Given the description of an element on the screen output the (x, y) to click on. 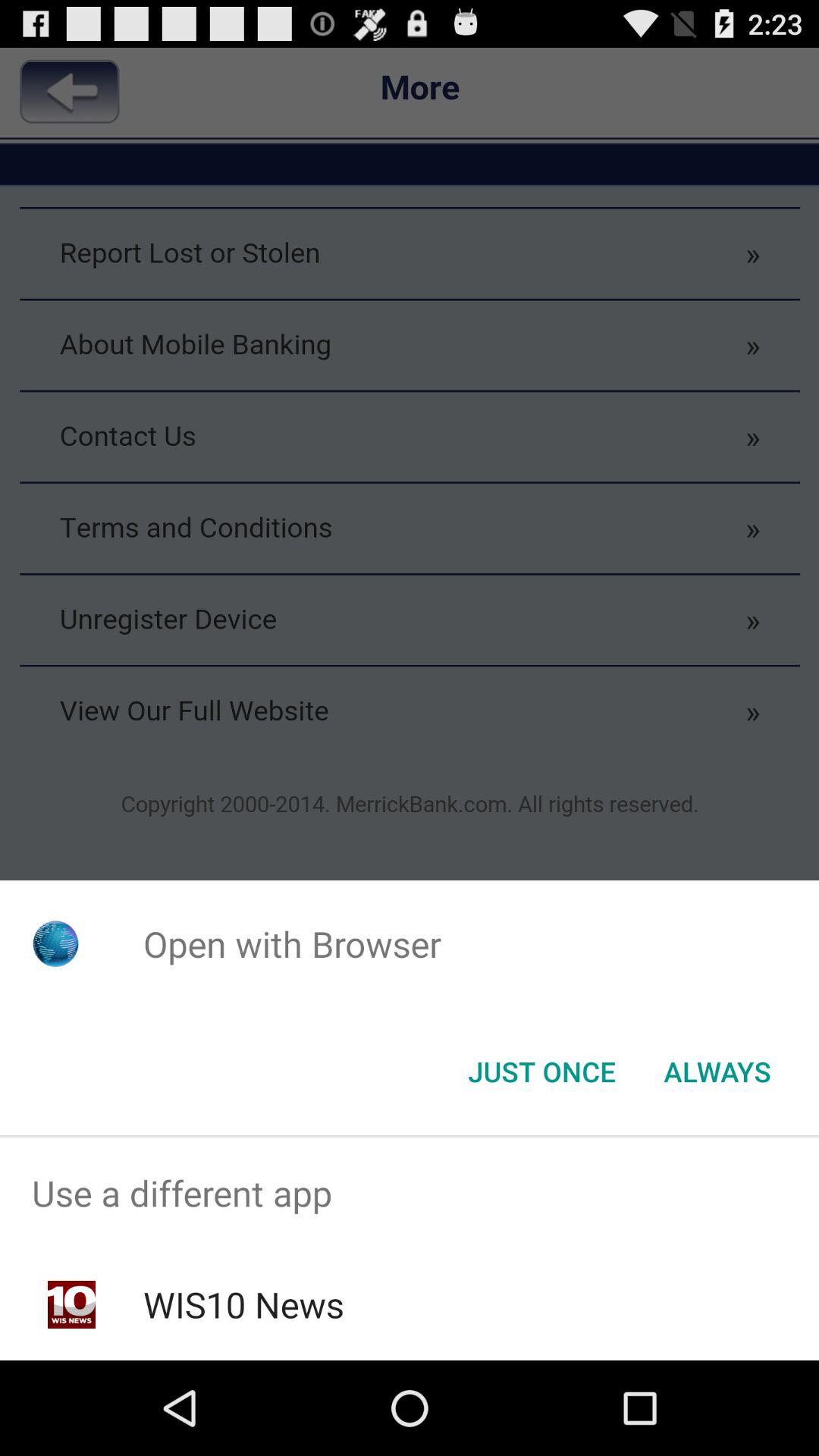
tap the just once item (541, 1071)
